Given the description of an element on the screen output the (x, y) to click on. 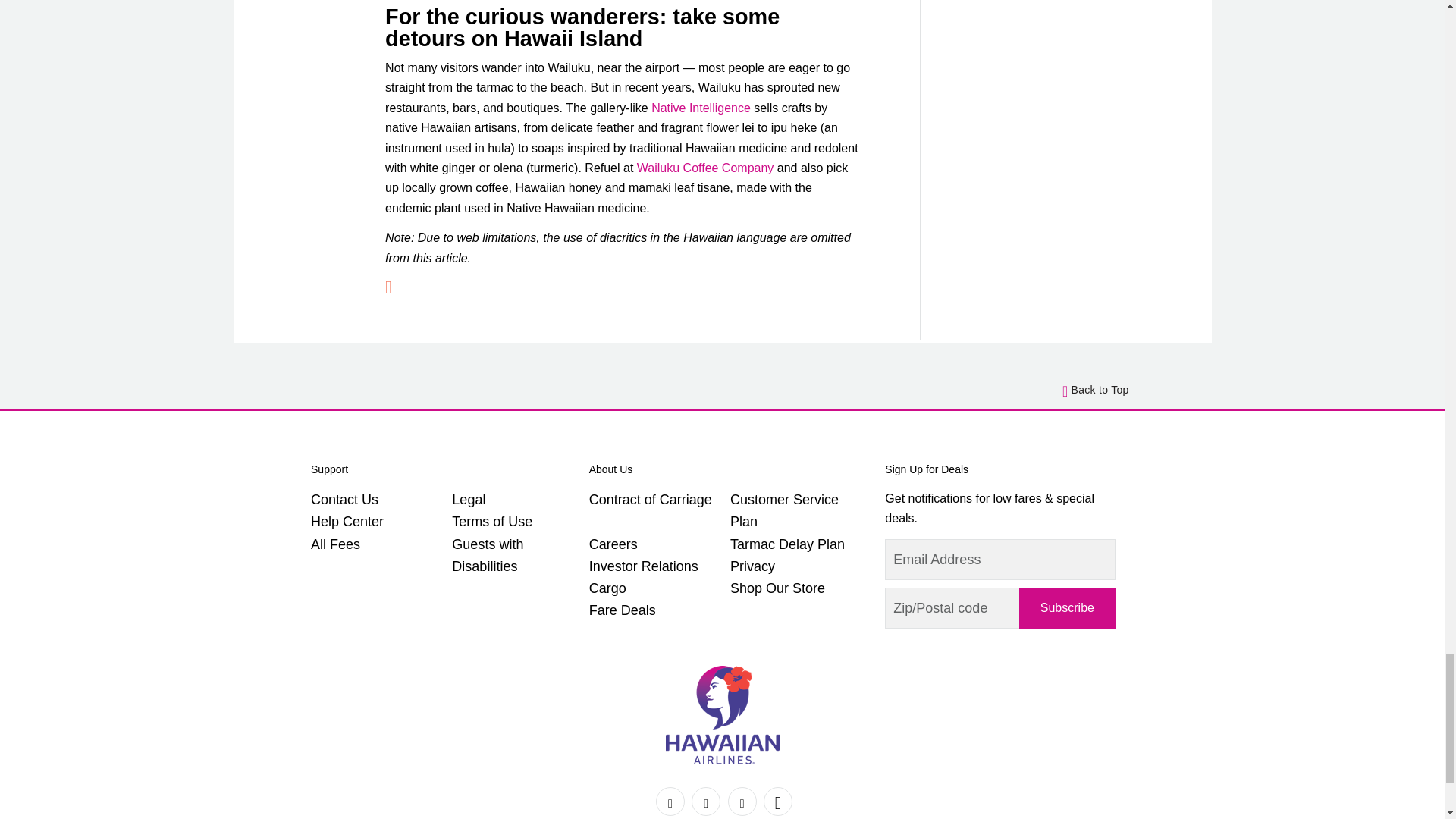
Visit us on Twitter (705, 801)
Visit us on Instagram (742, 801)
Visit us on Facebook (670, 801)
Visit us on YouTube (777, 801)
